Given the description of an element on the screen output the (x, y) to click on. 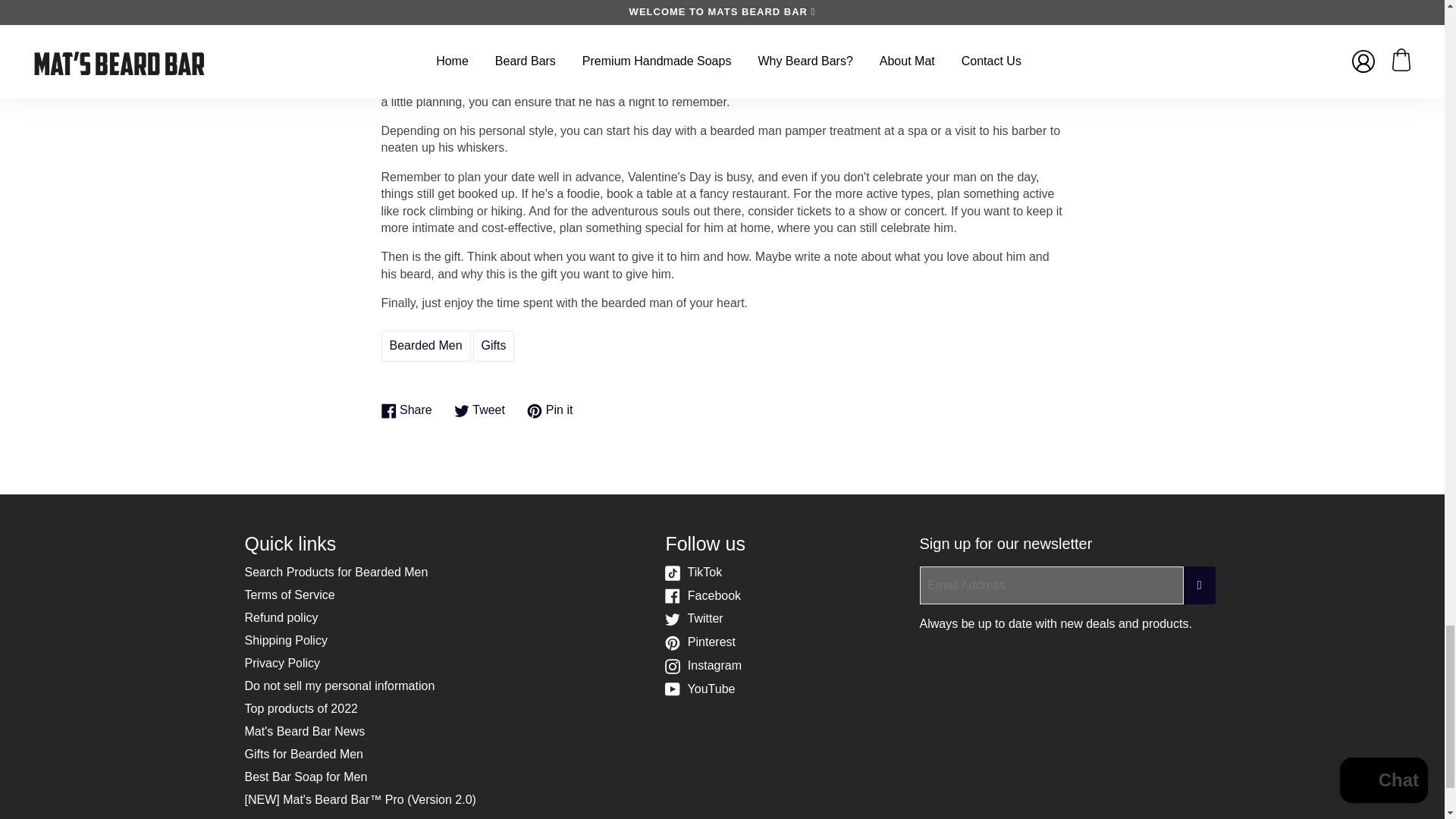
Best Bar Soap for Men (305, 776)
Mat's Beard Bar on TikTok (693, 571)
Gifts (481, 409)
Terms of Service (494, 345)
Privacy Policy (289, 594)
Mat's Beard Bar on Facebook (282, 662)
Do not sell my personal information (703, 594)
Search Products for Bearded Men (407, 409)
